Given the description of an element on the screen output the (x, y) to click on. 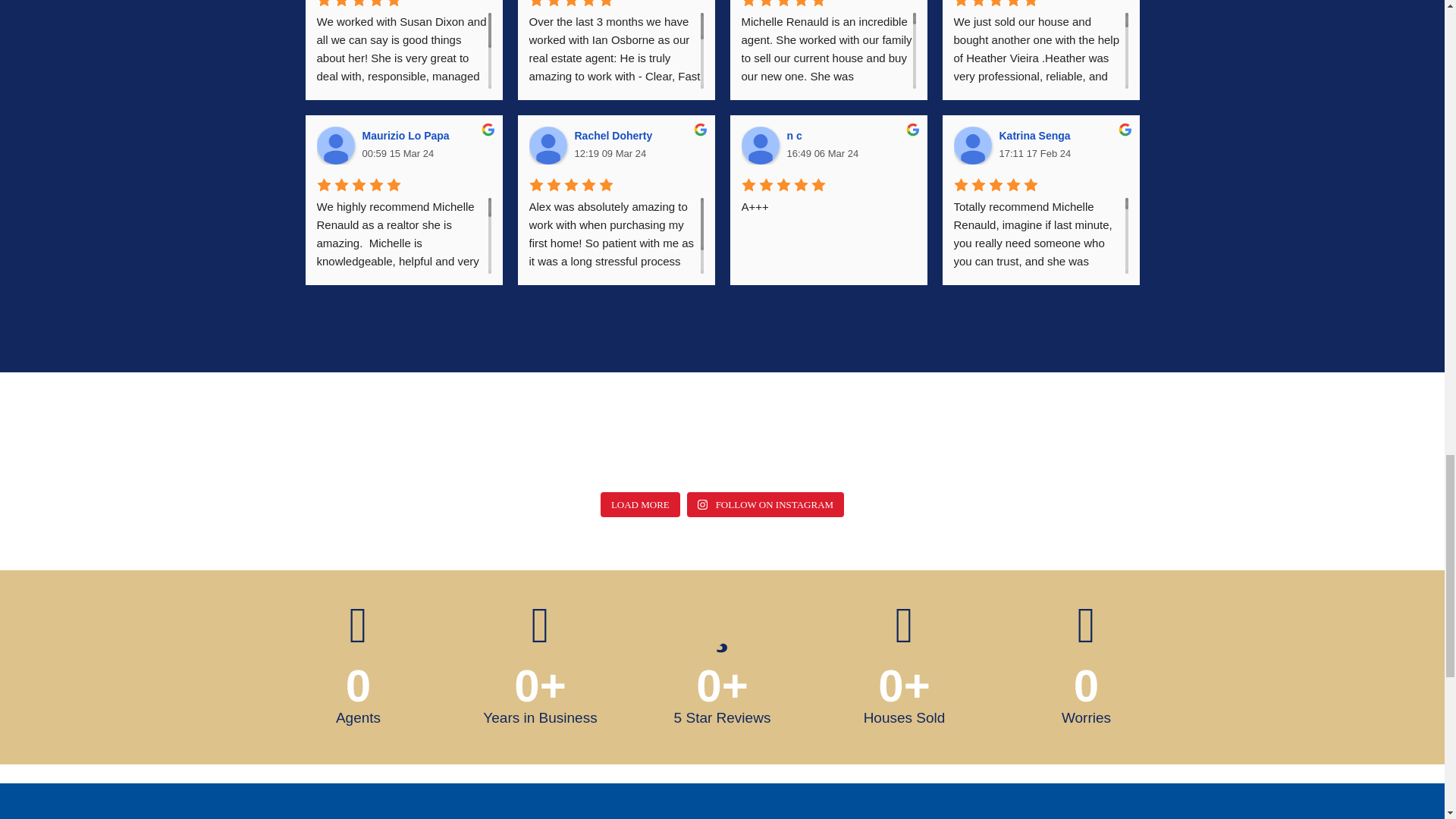
Maurizio Lo Papa (336, 145)
Katrina Senga (972, 145)
n c (759, 145)
Rachel Doherty (548, 145)
